Given the description of an element on the screen output the (x, y) to click on. 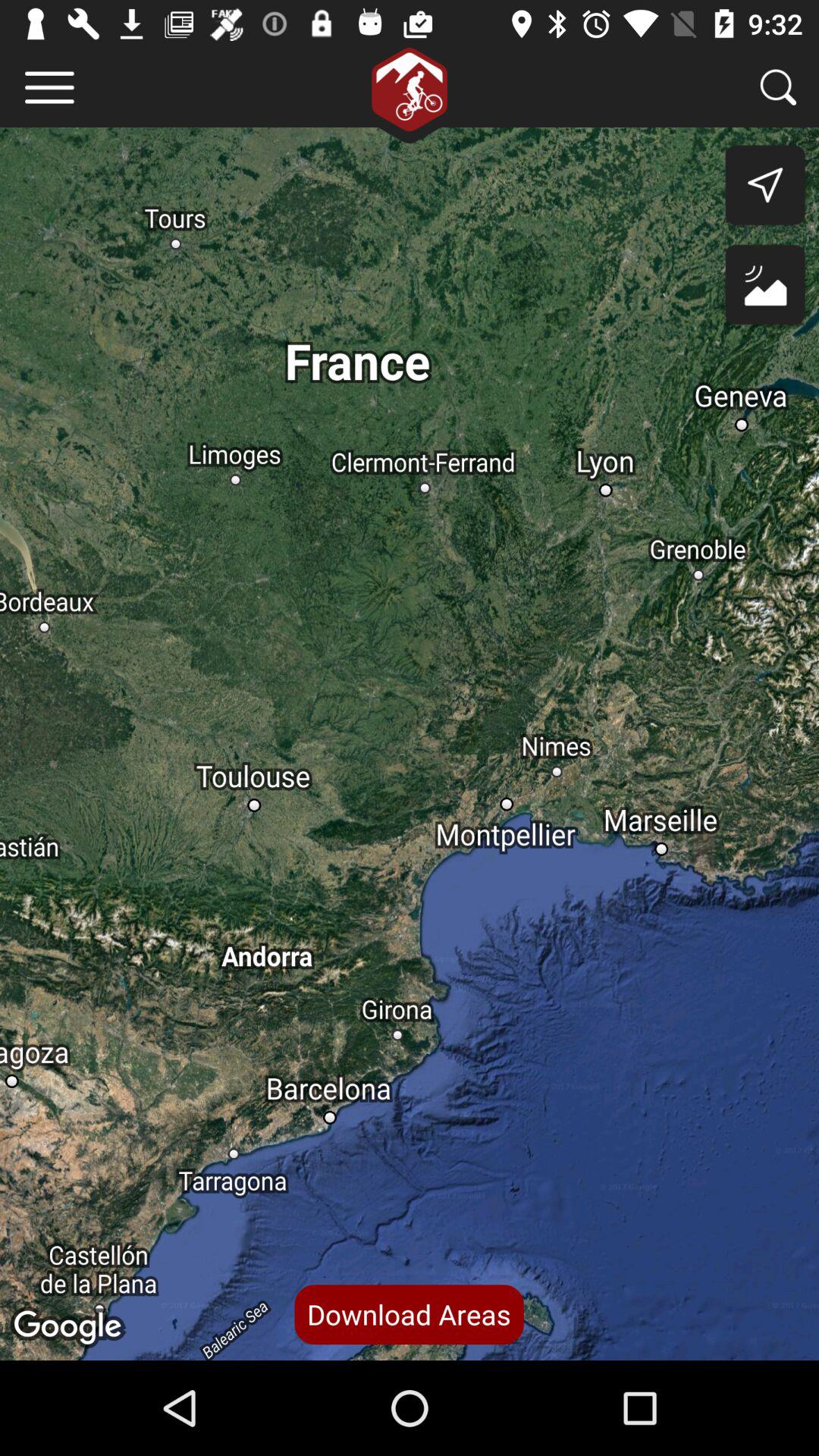
press item at the top left corner (49, 87)
